Given the description of an element on the screen output the (x, y) to click on. 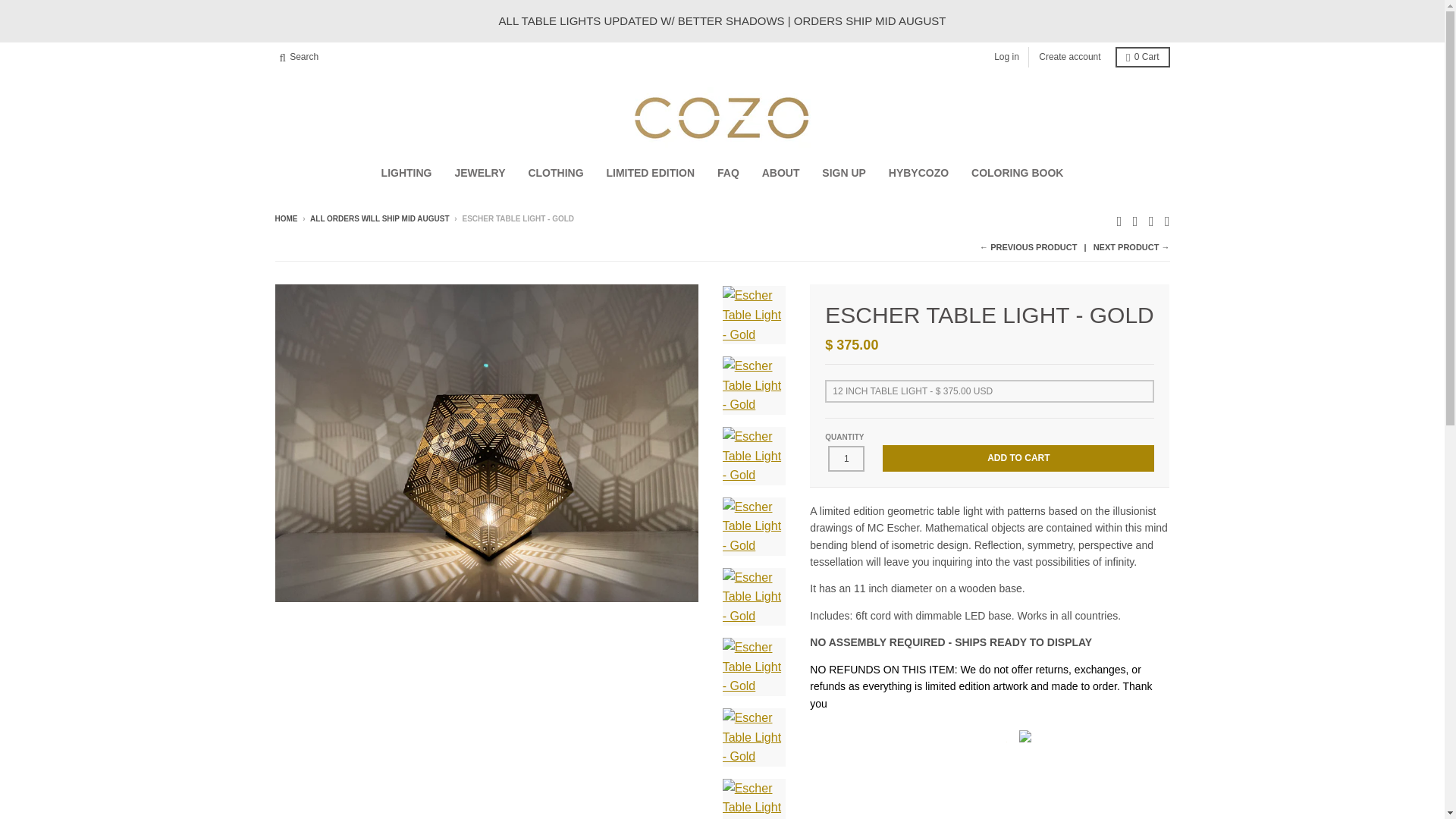
FAQ (728, 172)
0 Cart (1142, 56)
HYBYCOZO (918, 172)
Create account (1069, 56)
COLORING BOOK (1016, 172)
Search (299, 56)
ABOUT (780, 172)
ALL ORDERS WILL SHIP MID AUGUST (379, 218)
1 (846, 458)
LIMITED EDITION (649, 172)
Log in (1006, 56)
CLOTHING (555, 172)
LIGHTING (406, 172)
Back to the frontpage (286, 218)
SIGN UP (844, 172)
